Given the description of an element on the screen output the (x, y) to click on. 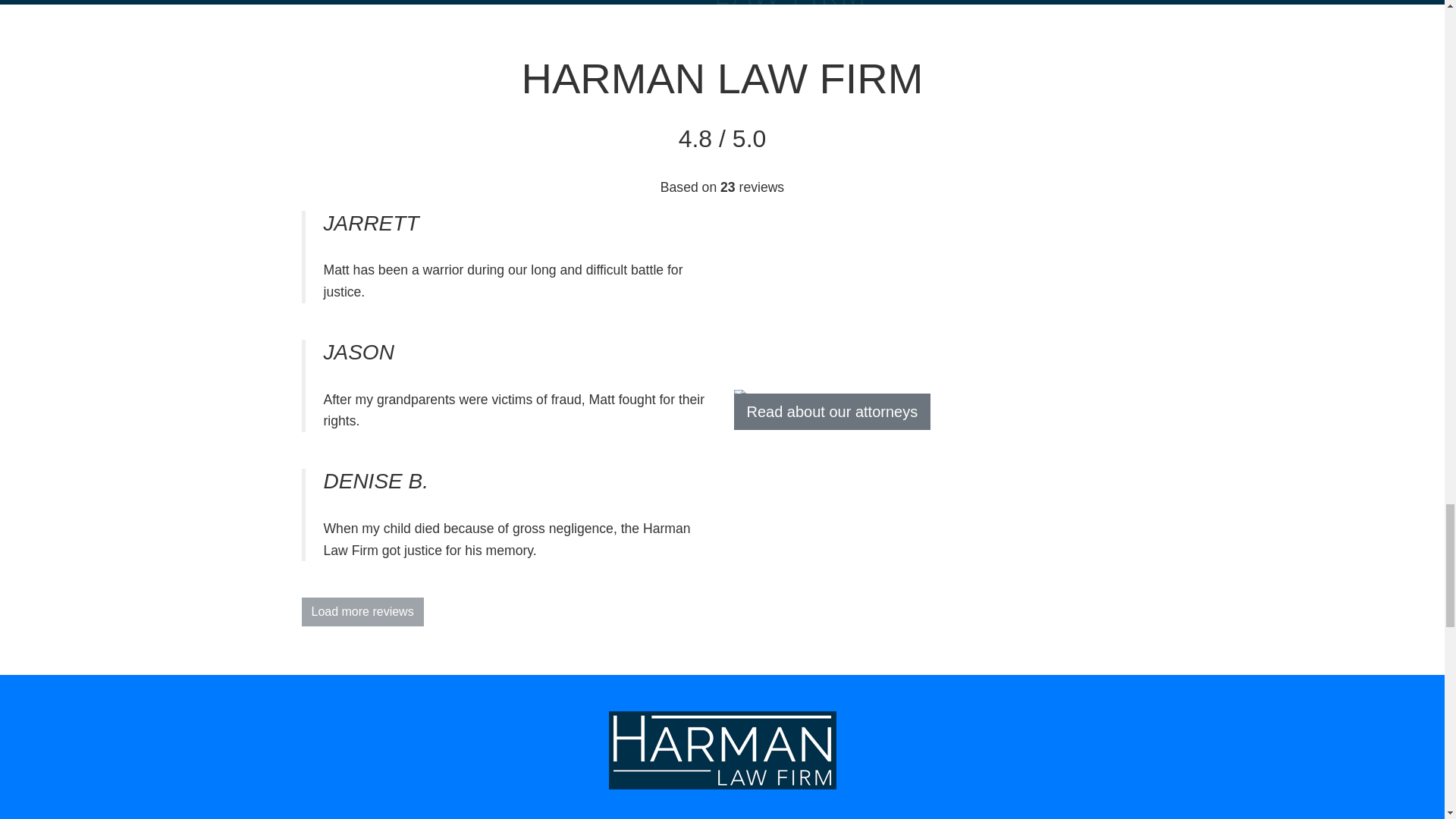
Load more reviews (362, 611)
Read about our attorneys (832, 411)
